Given the description of an element on the screen output the (x, y) to click on. 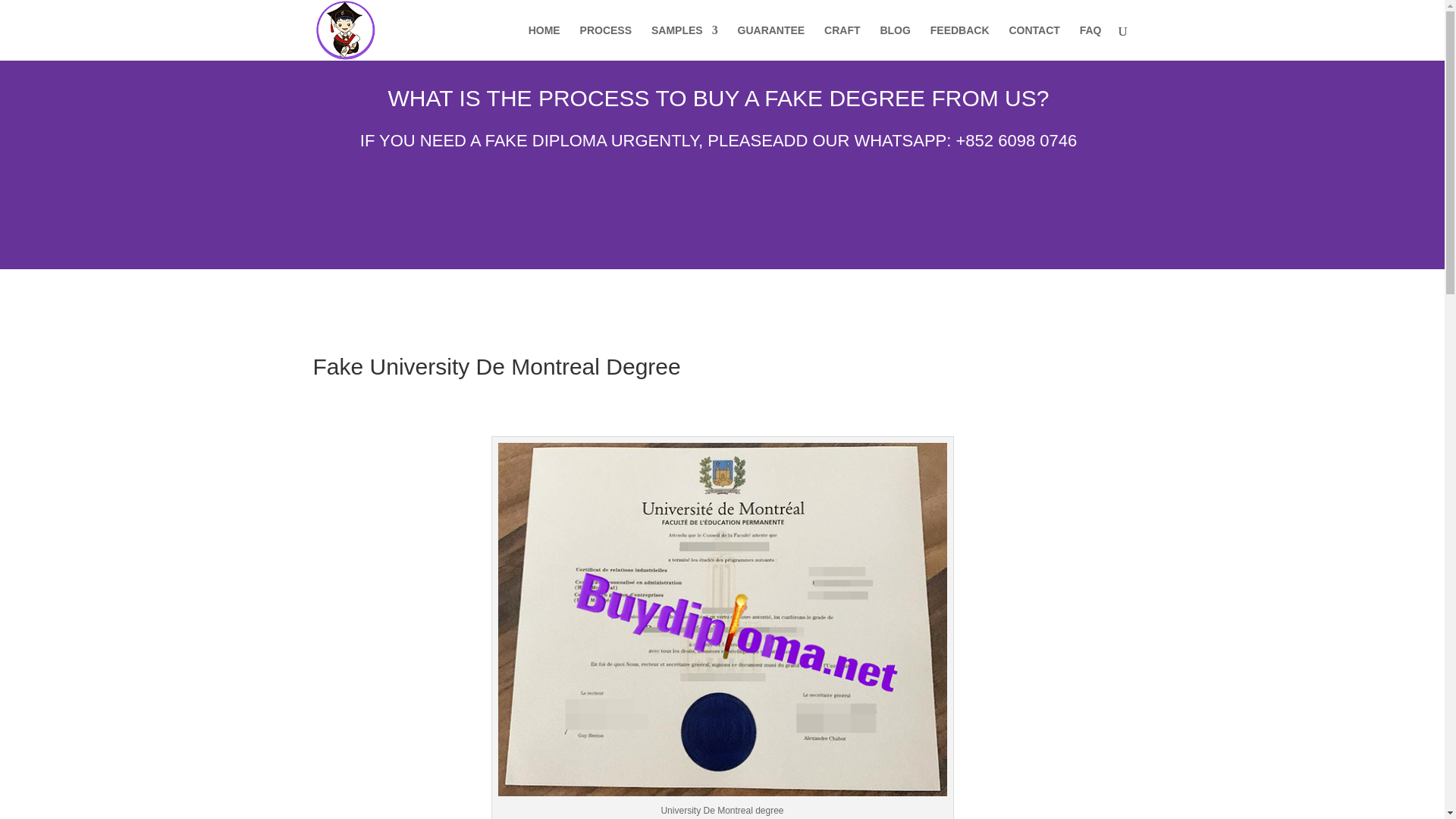
GUARANTEE (771, 42)
CRAFT (842, 42)
FEEDBACK (960, 42)
CONTACT (1034, 42)
HOME (544, 42)
SAMPLES (683, 42)
PROCESS (605, 42)
